Given the description of an element on the screen output the (x, y) to click on. 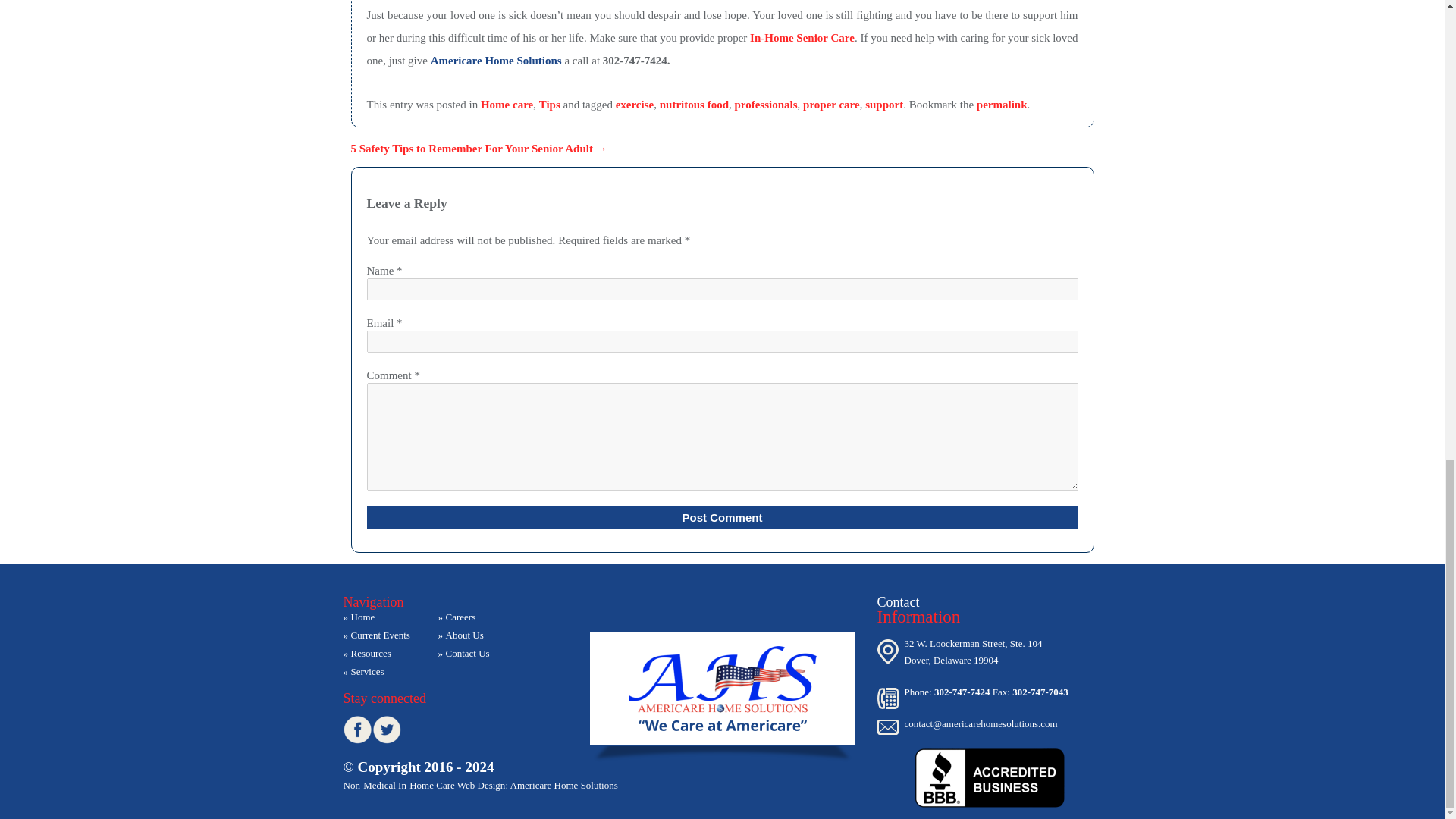
proper care (831, 104)
Permalink to 5 Coping Tips When Your Loved One Is Sick (1001, 104)
Post Comment (722, 517)
Services (381, 671)
support (883, 104)
Post Comment (722, 517)
Resources (381, 653)
nutritous food (694, 104)
Home care (506, 104)
Contact Us (476, 653)
Non-Medical In-Home Care Web Design (423, 785)
About Us (476, 635)
professionals (764, 104)
exercise (634, 104)
Tips (549, 104)
